Given the description of an element on the screen output the (x, y) to click on. 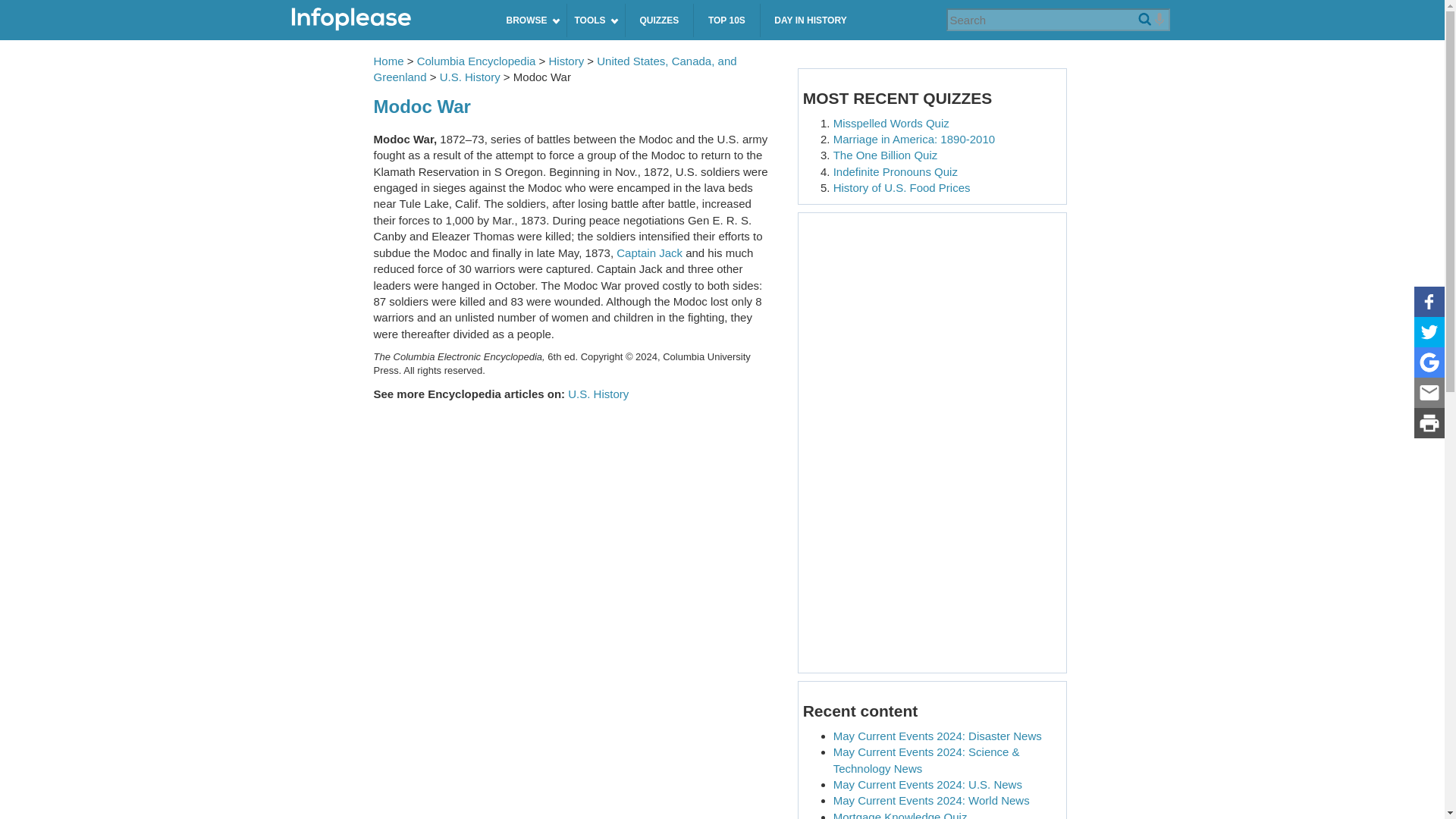
Search (1144, 19)
Home (386, 19)
